Given the description of an element on the screen output the (x, y) to click on. 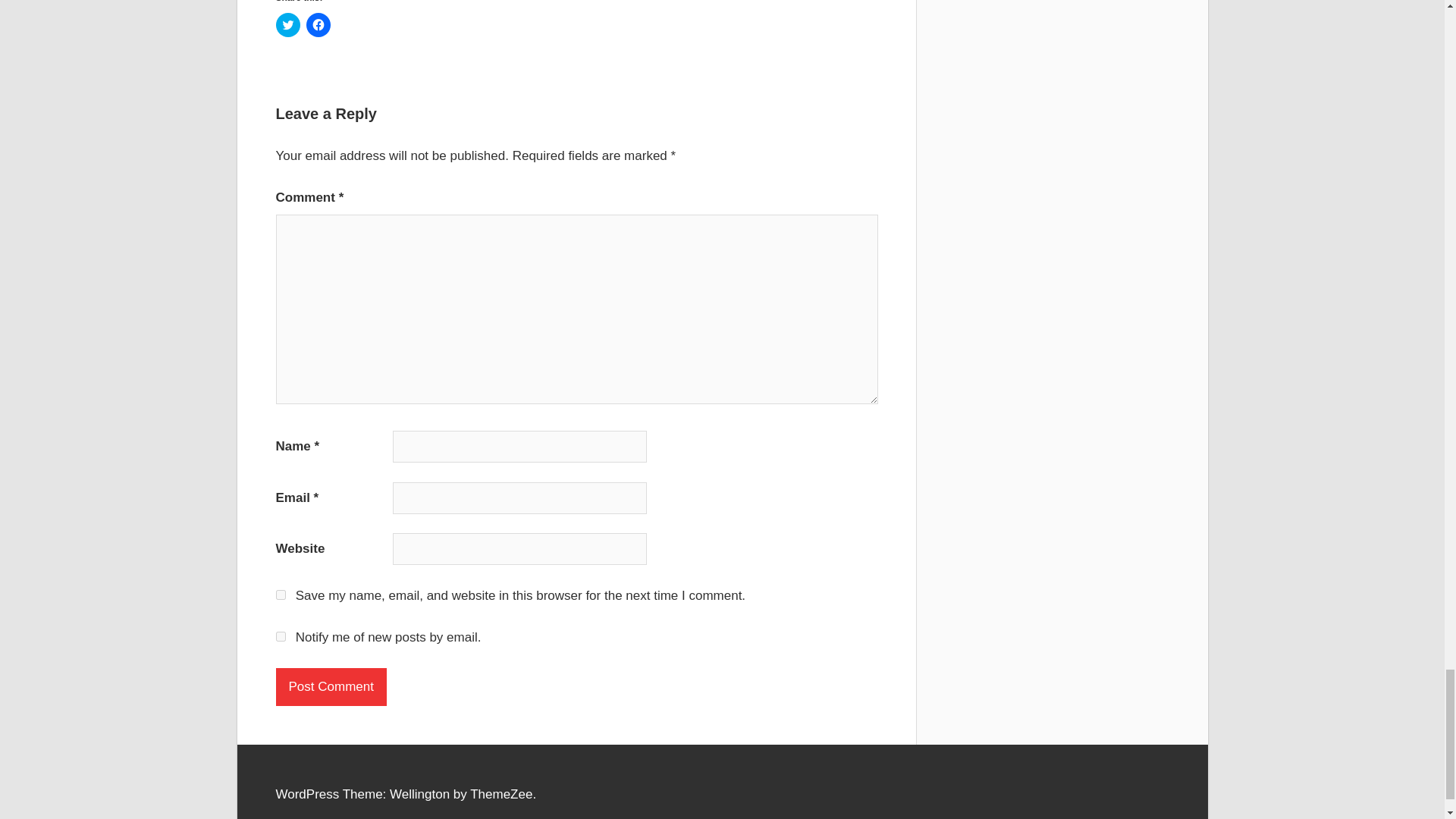
Post Comment (331, 686)
yes (280, 594)
Click to share on Twitter (287, 24)
Post Comment (331, 686)
Click to share on Facebook (317, 24)
subscribe (280, 636)
